Given the description of an element on the screen output the (x, y) to click on. 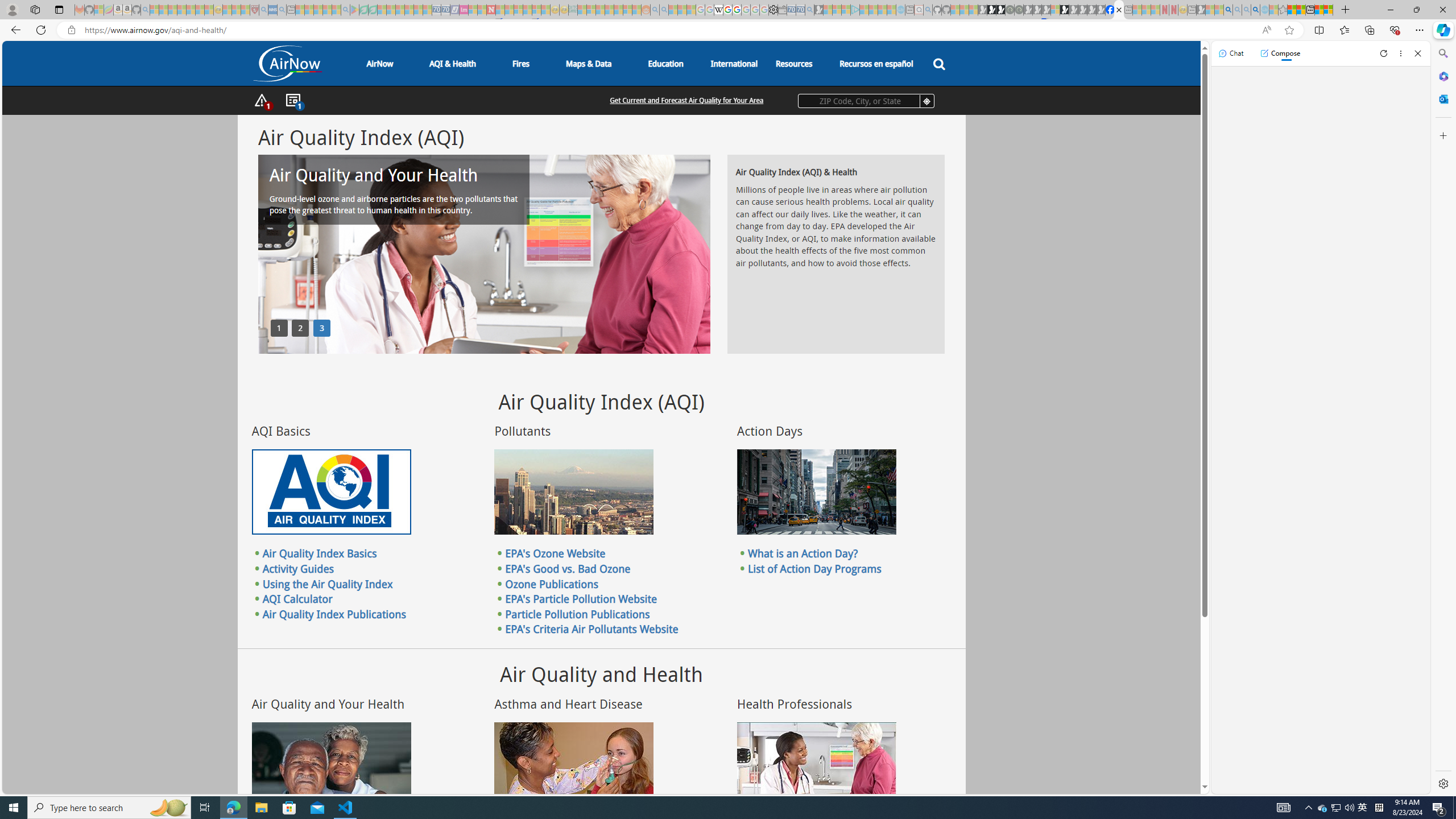
github - Search - Sleeping (927, 9)
Air Now Logo (286, 62)
AQI & Health | AirNow.gov (1118, 9)
AutomationID: nav-announcements-toggle (292, 100)
List of Action Day Programs (814, 568)
Activity Guides (298, 568)
Ozone Publications (551, 583)
